Given the description of an element on the screen output the (x, y) to click on. 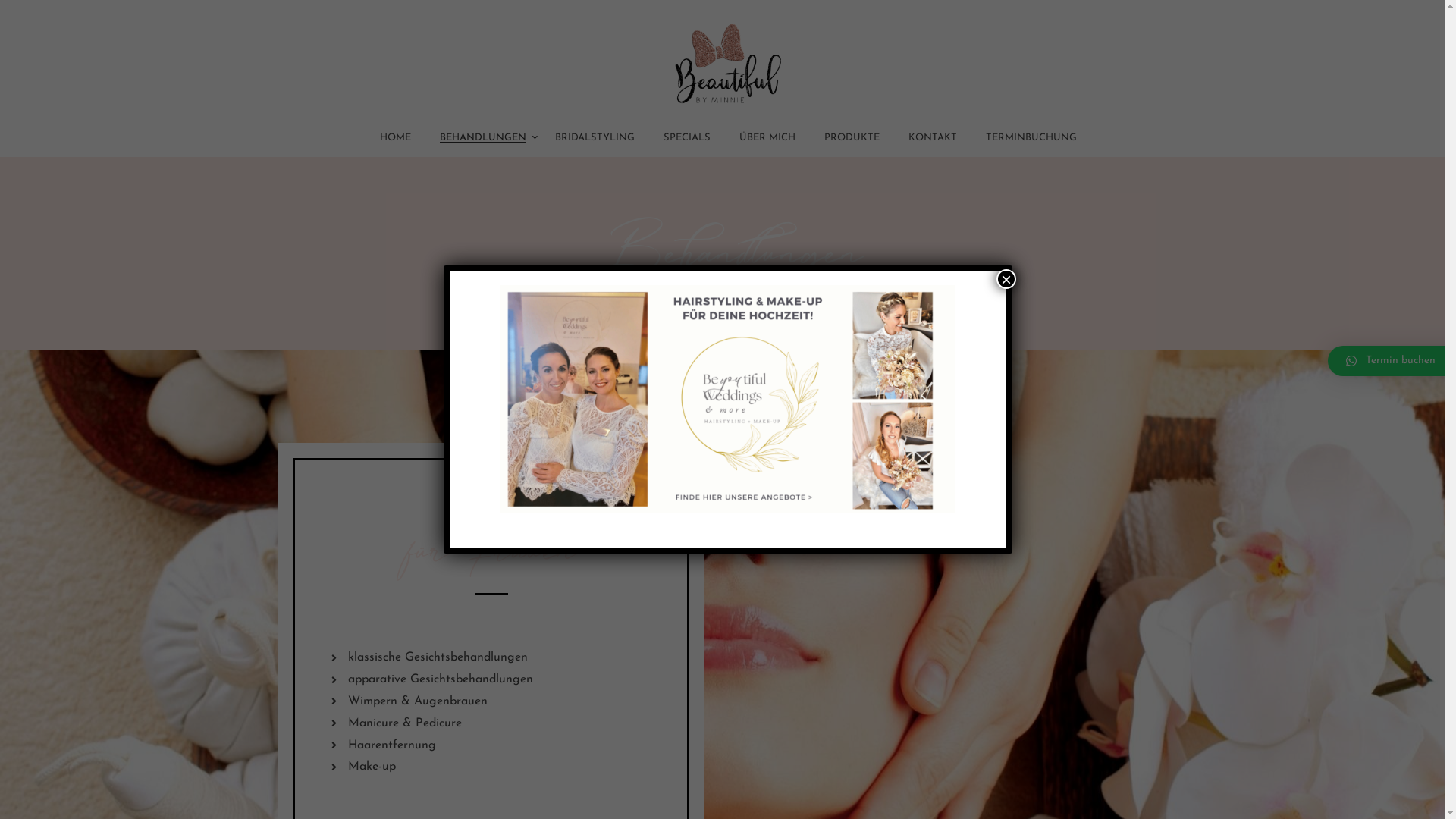
PRODUKTE Element type: text (851, 141)
SPECIALS Element type: text (686, 141)
apparative Gesichtsbehandlungen Element type: text (490, 679)
Wimpern & Augenbrauen Element type: text (490, 701)
BEHANDLUNGEN Element type: text (482, 141)
Manicure & Pedicure Element type: text (490, 723)
klassische Gesichtsbehandlungen Element type: text (490, 657)
BRIDALSTYLING Element type: text (593, 141)
KONTAKT Element type: text (931, 141)
TERMINBUCHUNG Element type: text (1030, 141)
Haarentfernung Element type: text (490, 745)
HOME Element type: text (395, 141)
Make-up Element type: text (490, 767)
